Given the description of an element on the screen output the (x, y) to click on. 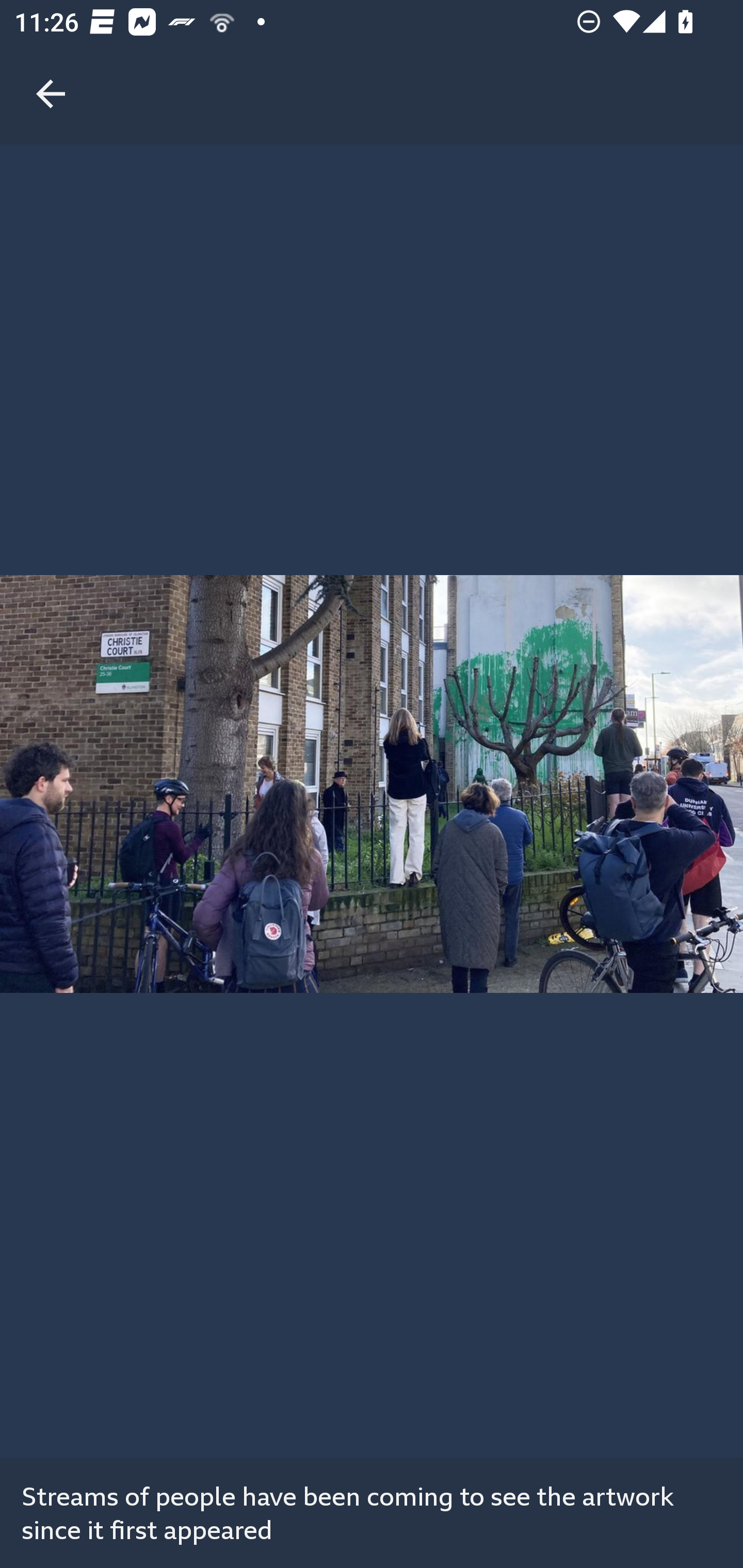
Back (50, 72)
